Given the description of an element on the screen output the (x, y) to click on. 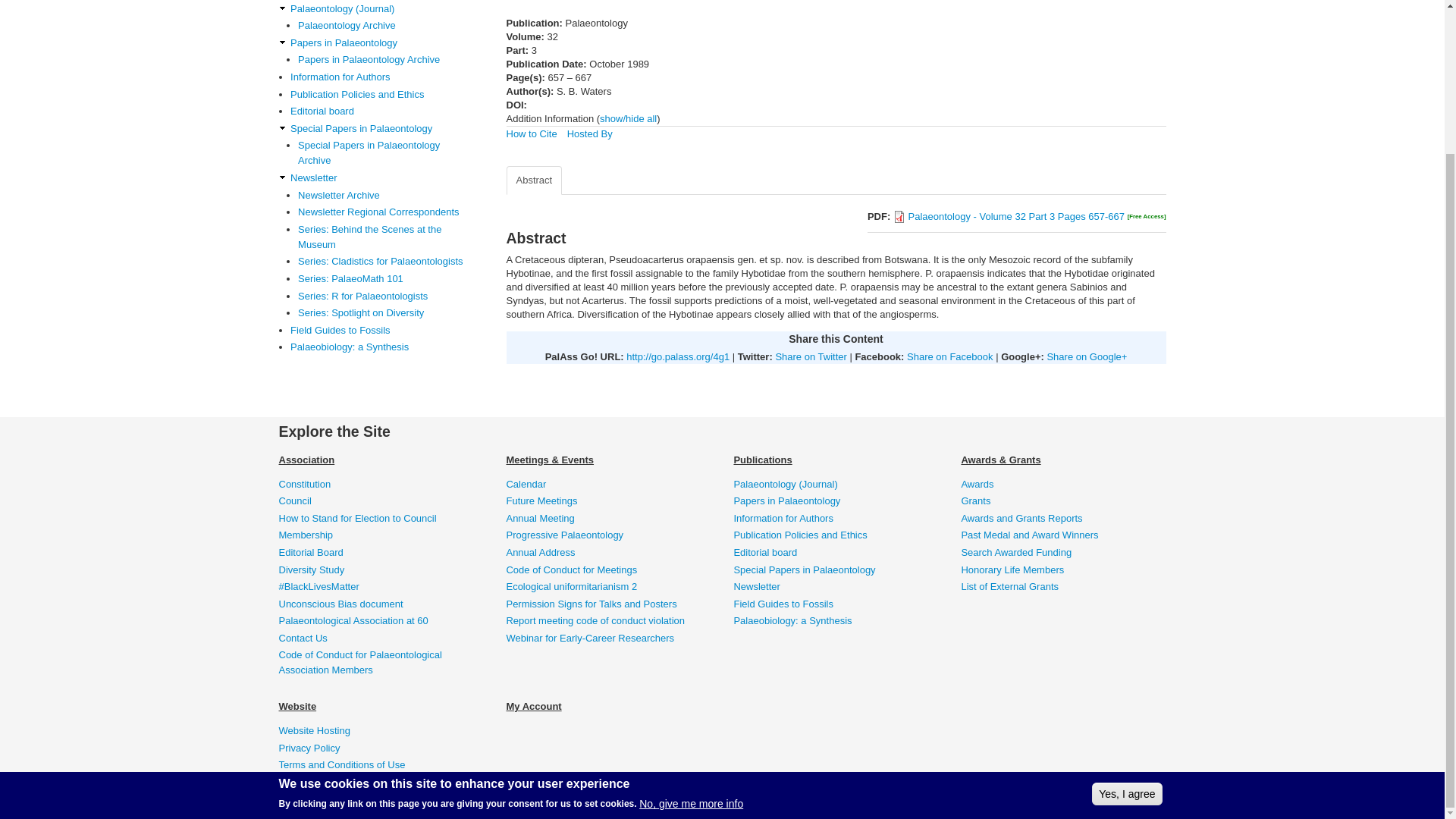
Publication Policies and Ethics (384, 94)
Palaeontology Archive (385, 25)
Series: Cladistics for Palaeontologists (385, 261)
Newsletter Archive (385, 195)
Papers in Palaeontology Archive (385, 59)
Special Papers in Palaeontology Archive (385, 153)
Special Papers in Palaeontology (384, 128)
Paper in Palaeontology (384, 43)
